Given the description of an element on the screen output the (x, y) to click on. 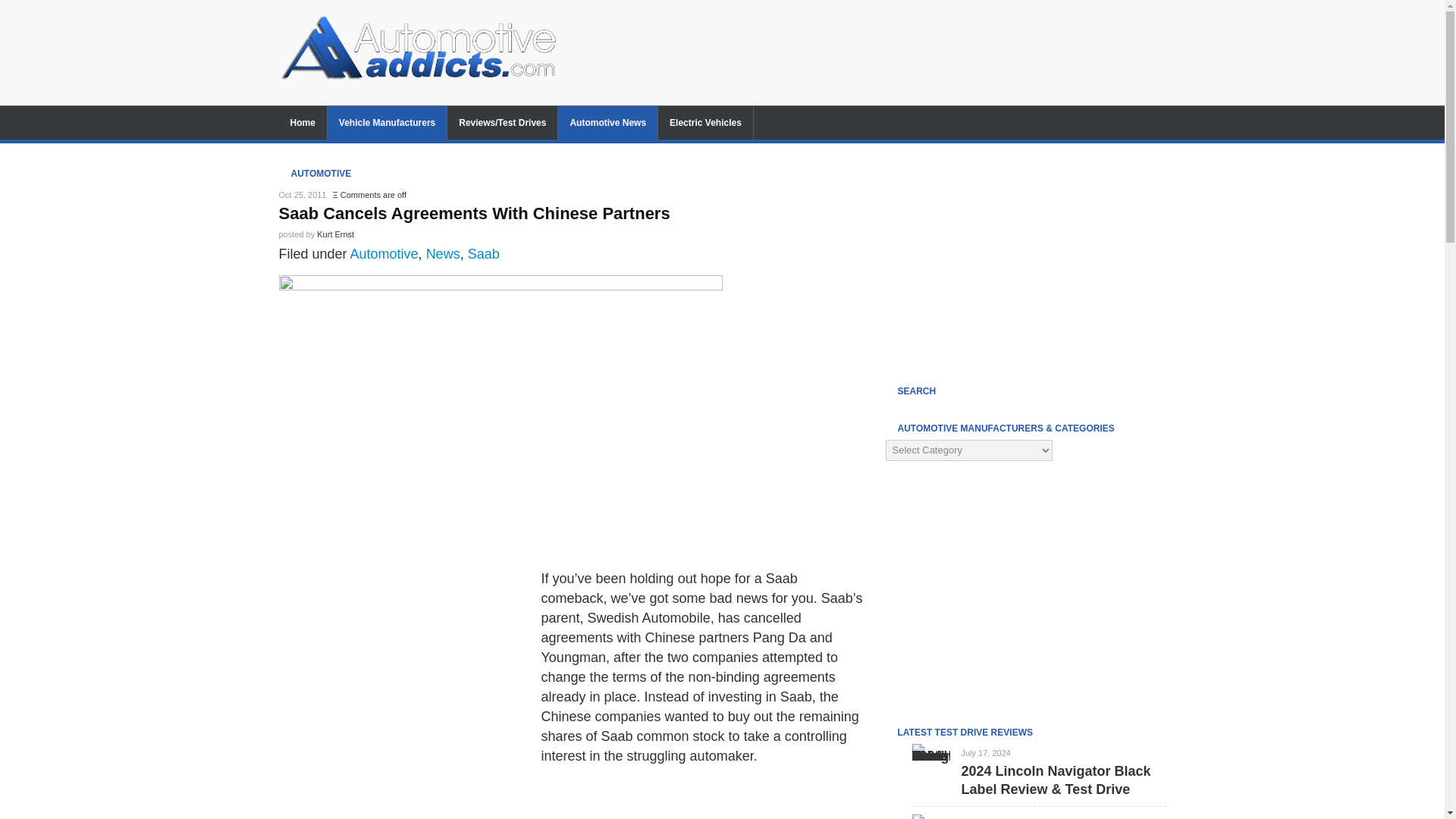
Grille (500, 416)
Posts by Kurt Ernst (335, 234)
Vehicle Manufacturers (386, 122)
Home (302, 122)
